Given the description of an element on the screen output the (x, y) to click on. 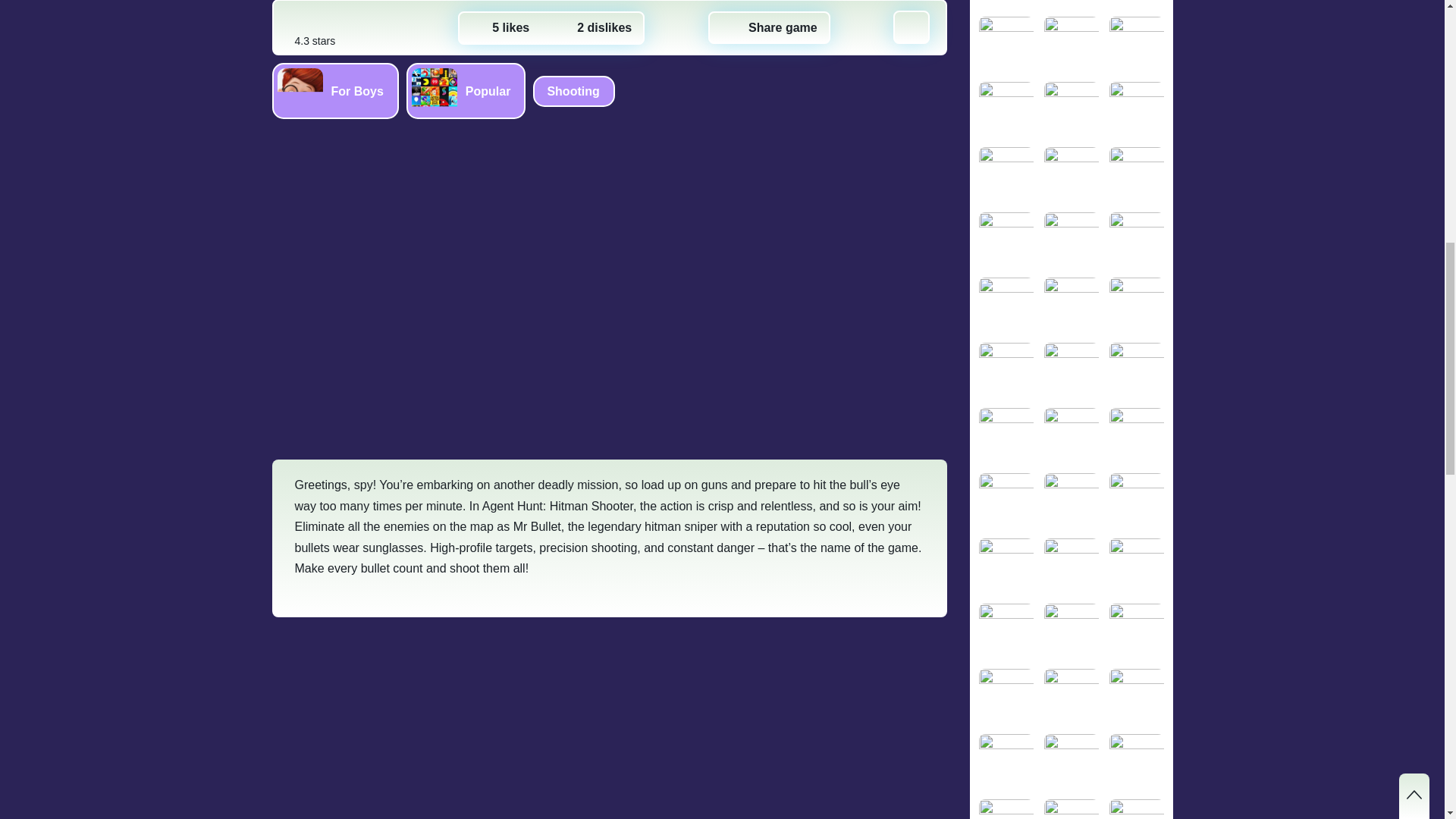
Popular (465, 90)
Shooting (573, 91)
For Boys (333, 90)
2 (593, 28)
5 (500, 28)
Share game (768, 28)
